Given the description of an element on the screen output the (x, y) to click on. 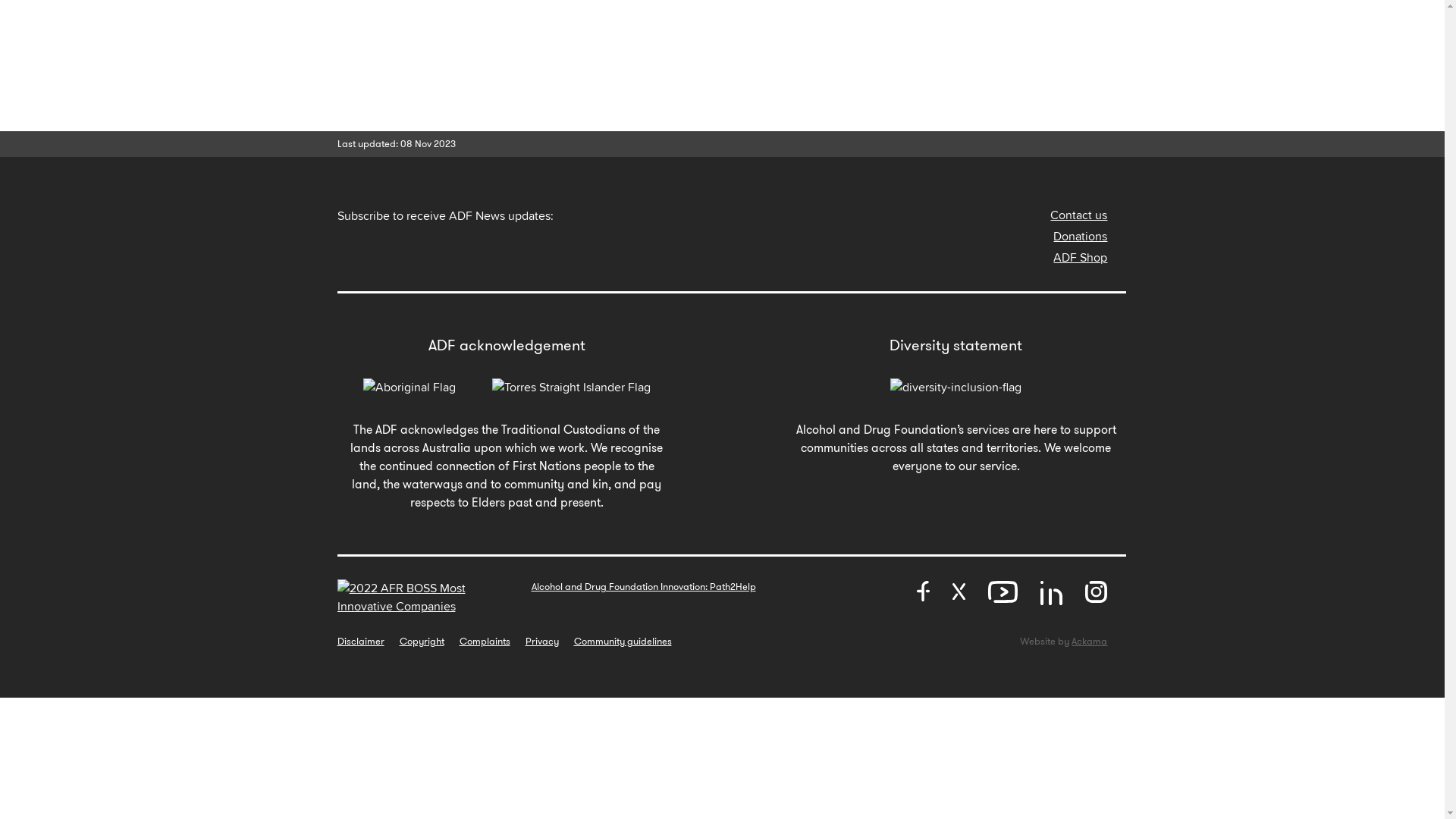
Copyright Element type: text (420, 640)
Donations Element type: text (1080, 236)
Contact us Element type: text (1078, 215)
Privacy Element type: text (541, 640)
Ackama Element type: text (1089, 640)
Complaints Element type: text (484, 640)
Disclaimer Element type: text (359, 640)
Alcohol and Drug Foundation Innovation: Path2Help Element type: text (642, 586)
2022 AFR BOSS Most Innovative Companies Element type: hover (427, 597)
Community guidelines Element type: text (622, 640)
ADF Shop Element type: text (1080, 257)
